Given the description of an element on the screen output the (x, y) to click on. 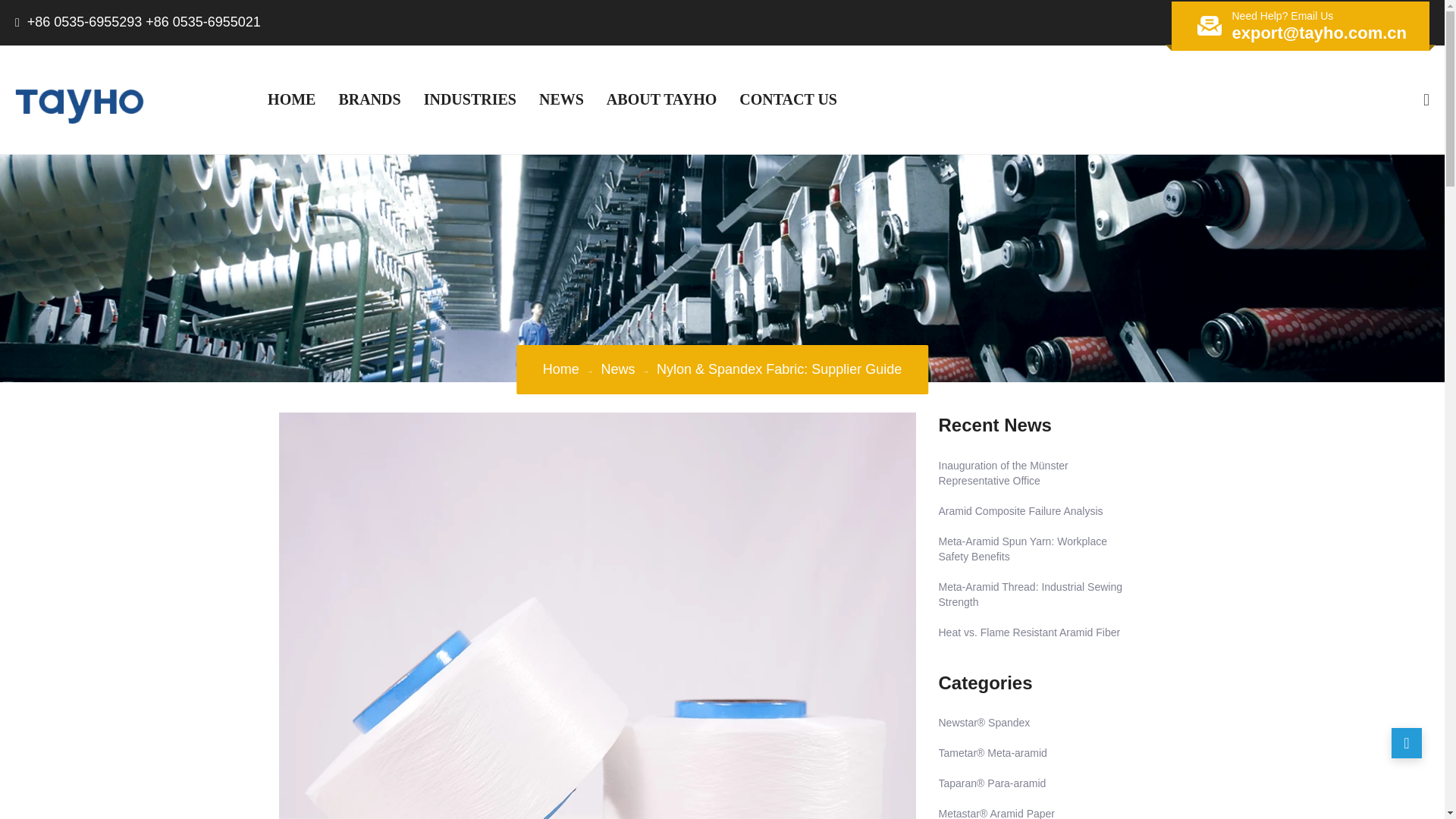
INDUSTRIES (469, 99)
ABOUT TAYHO (661, 99)
CONTACT US (788, 99)
BRANDS (369, 99)
HOME (291, 99)
NEWS (561, 99)
